Given the description of an element on the screen output the (x, y) to click on. 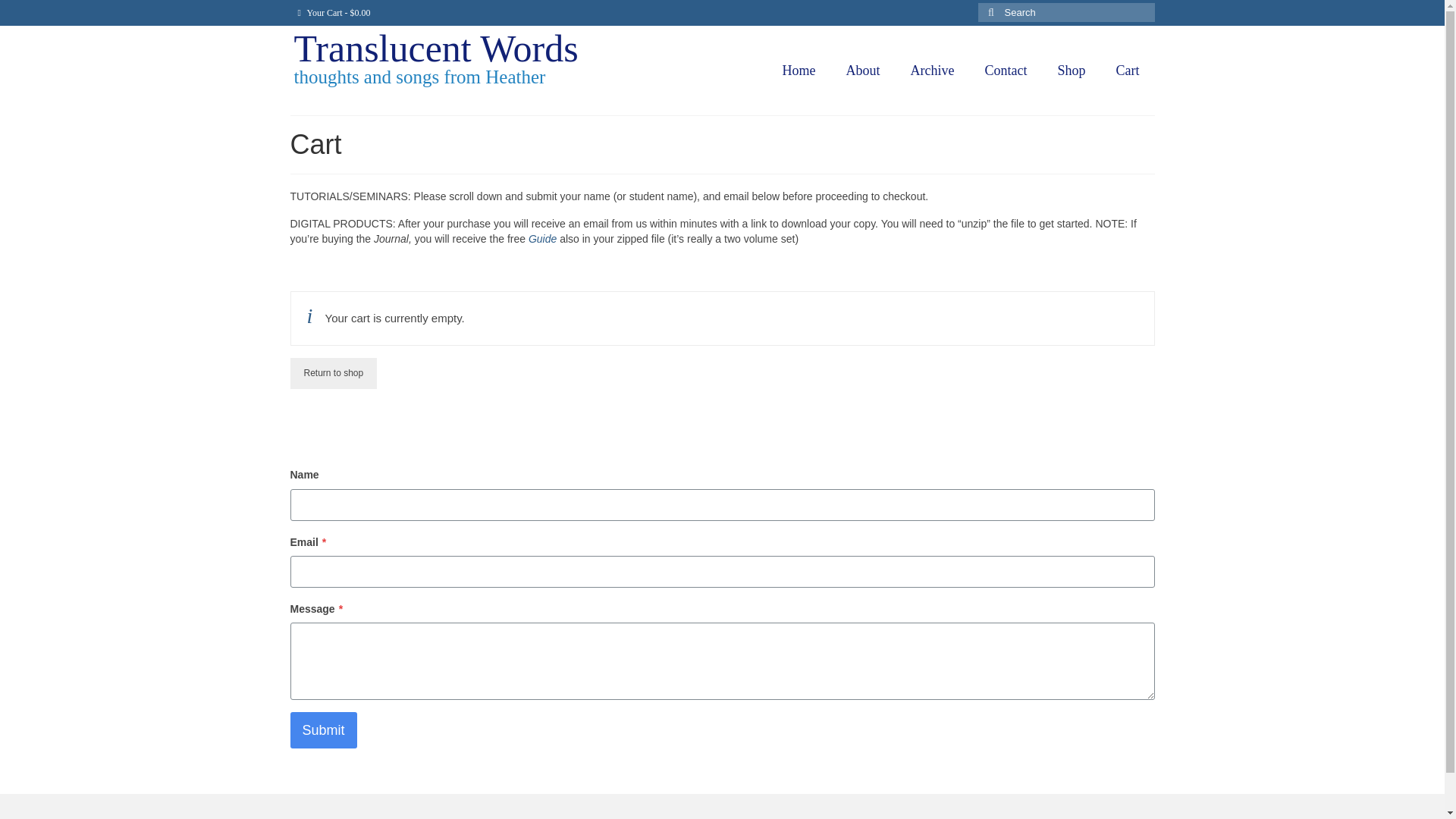
Contact (1005, 70)
Return to shop (333, 373)
Guide (542, 238)
Shop (1071, 70)
View your shopping cart (333, 12)
Archive (932, 70)
Submit (322, 729)
About (863, 70)
Cart (1127, 70)
Translucent Words (436, 48)
